Given the description of an element on the screen output the (x, y) to click on. 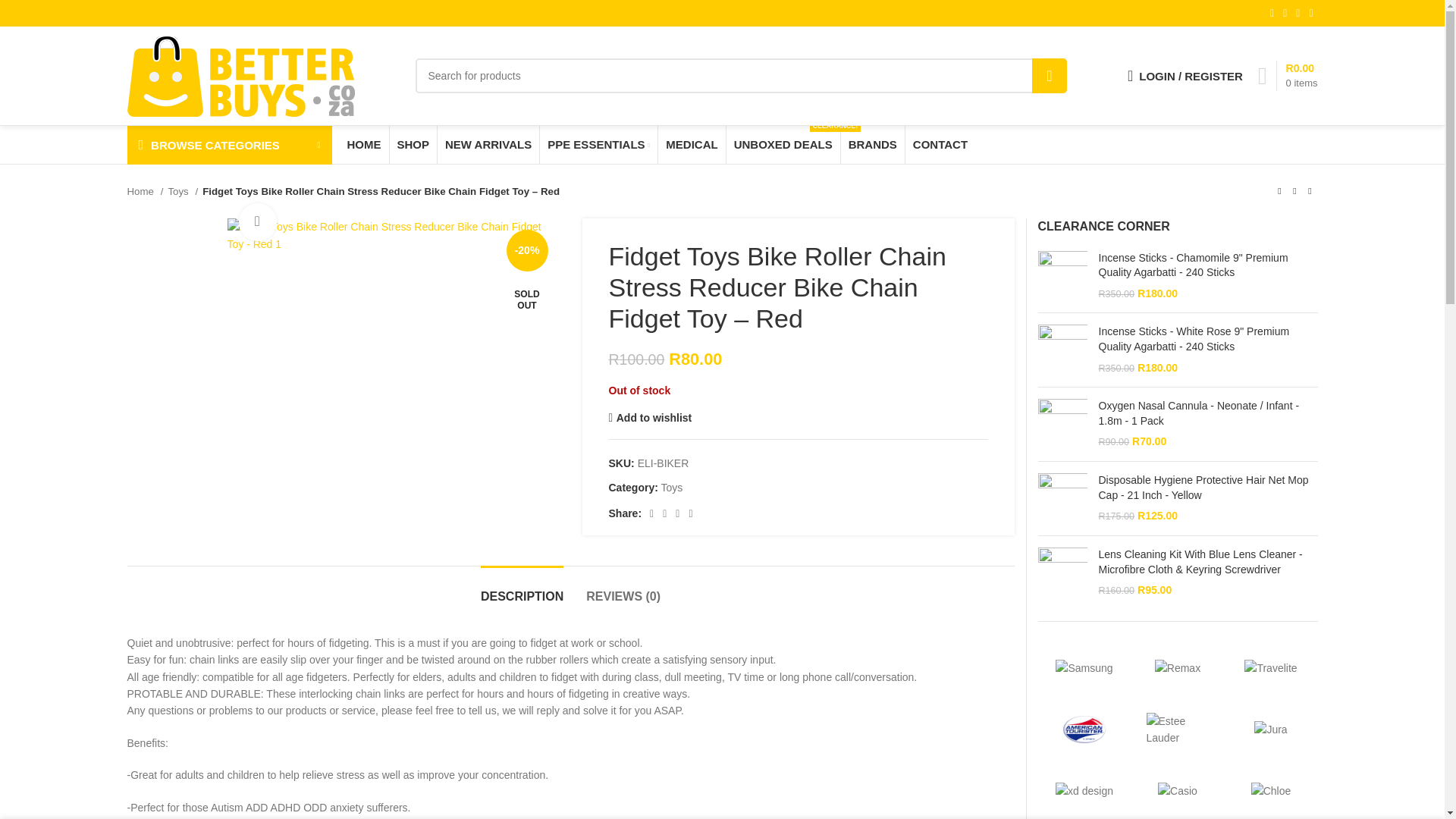
Log in (1117, 316)
SEARCH (1287, 75)
My account (1049, 75)
Search for products (1184, 75)
Fidget-BikeChain-Red-1Pack (740, 75)
Shopping cart (393, 235)
